Given the description of an element on the screen output the (x, y) to click on. 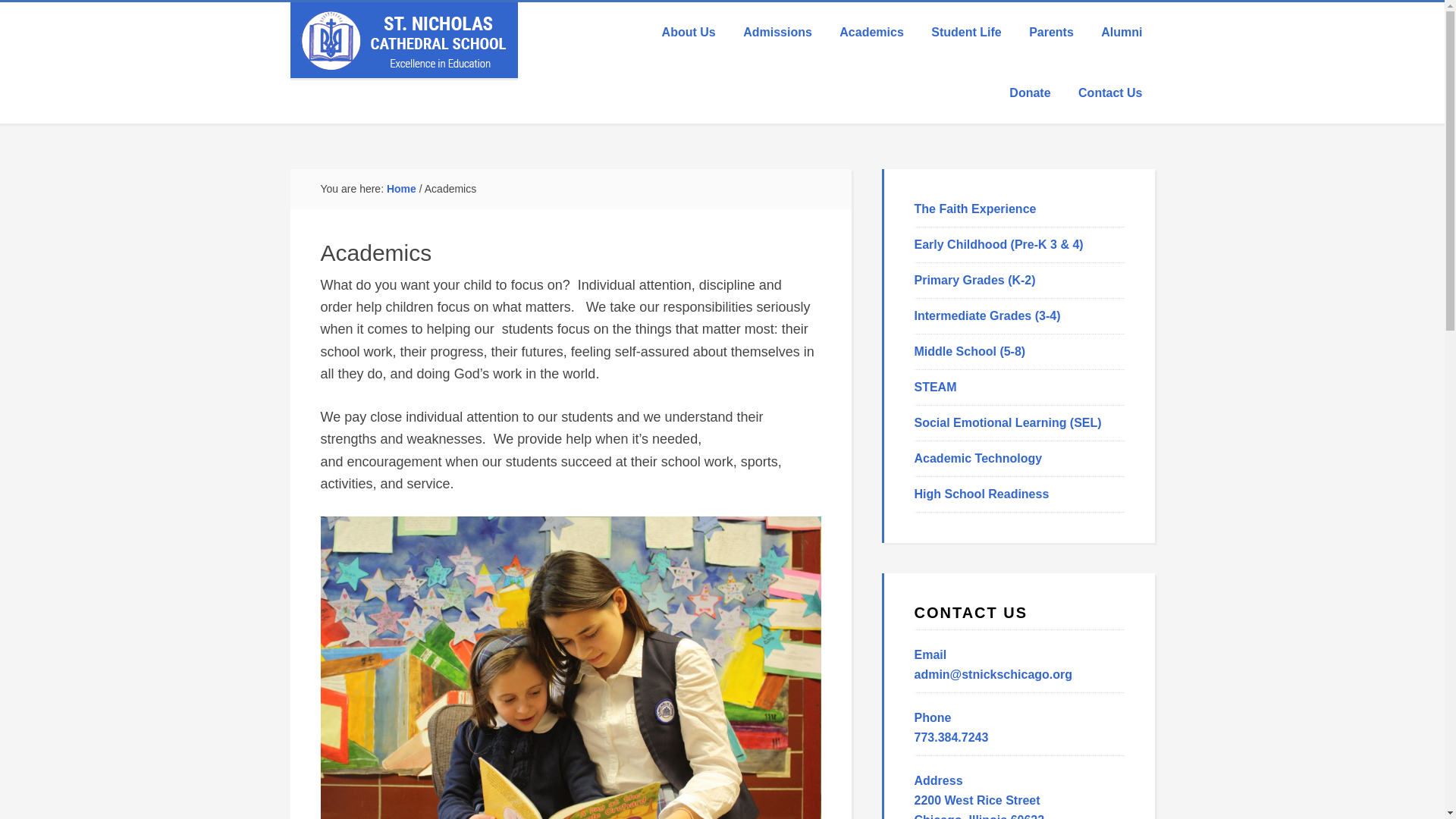
Admissions (777, 32)
Academics (871, 32)
ST. NICHOLAS CATHEDRAL SCHOOL (402, 39)
Student Life (965, 32)
About Us (688, 32)
Parents (1051, 32)
